Given the description of an element on the screen output the (x, y) to click on. 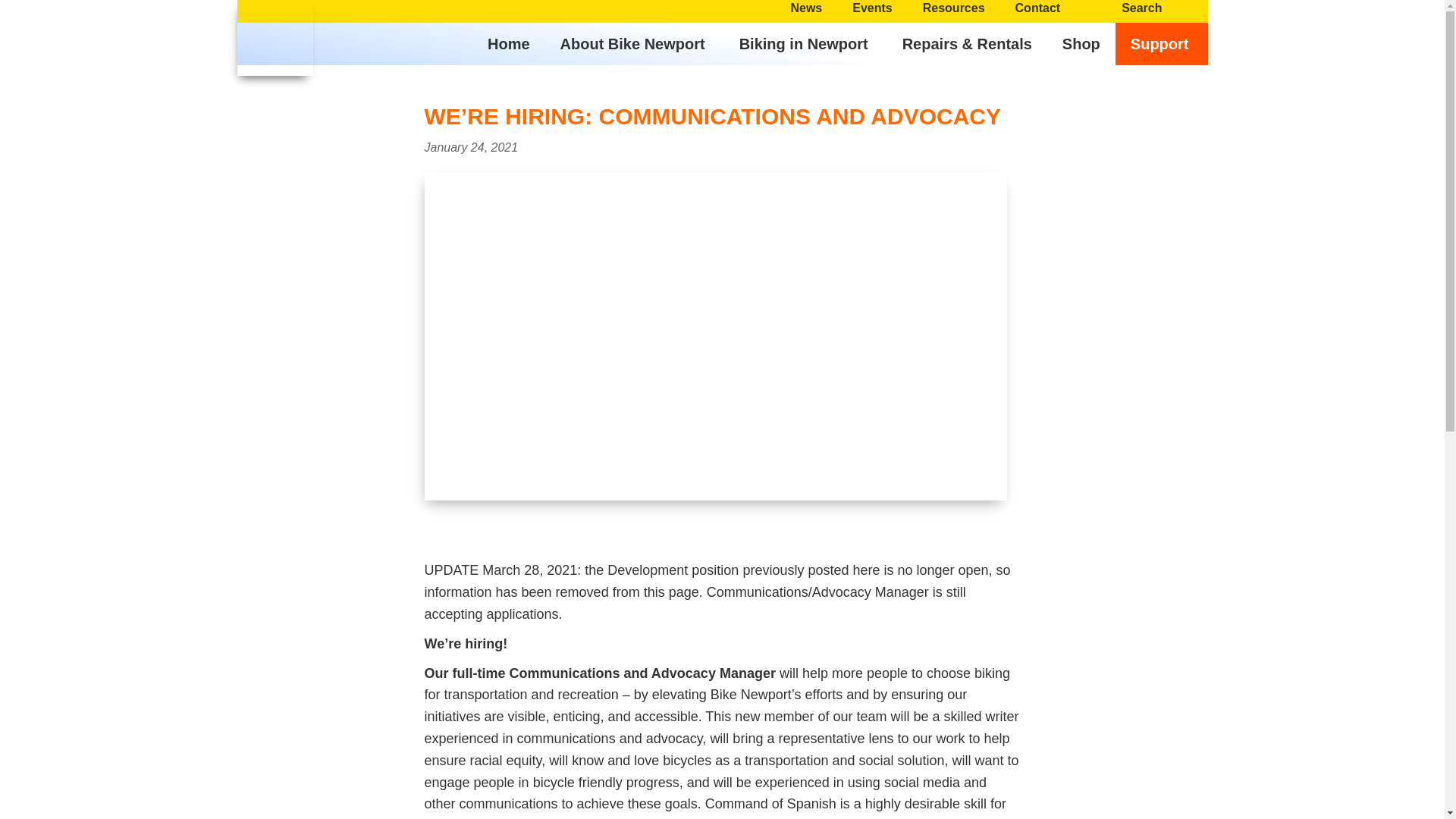
Contact (1037, 8)
Resources (953, 8)
Home (507, 43)
Biking in Newport (804, 43)
Bike Newport (266, 91)
Support (1161, 43)
Shop (1080, 43)
News (805, 8)
About Bike Newport (633, 43)
Events (872, 8)
